Given the description of an element on the screen output the (x, y) to click on. 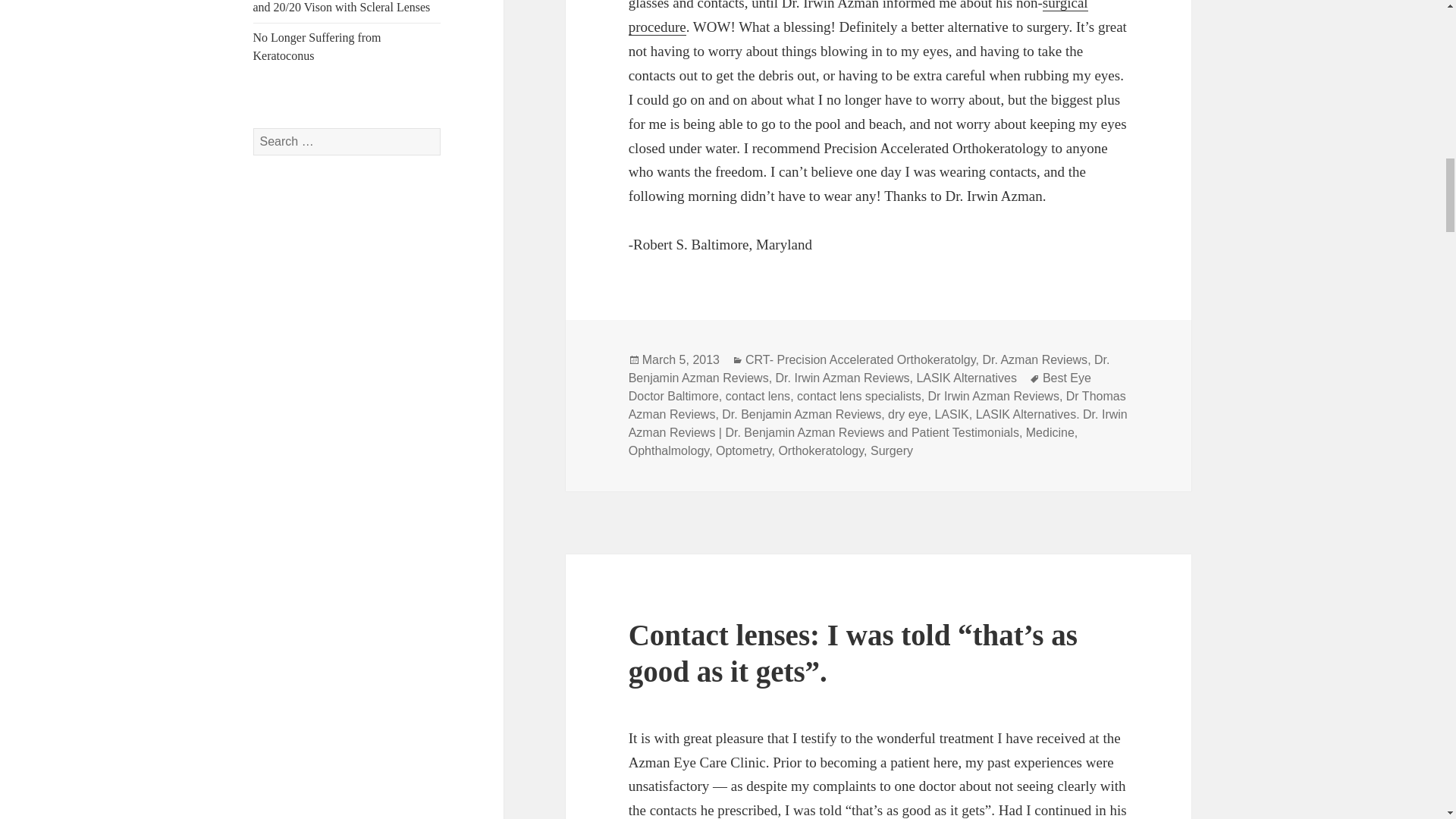
Surgery (857, 18)
No Longer Suffering from Keratoconus (317, 46)
